Given the description of an element on the screen output the (x, y) to click on. 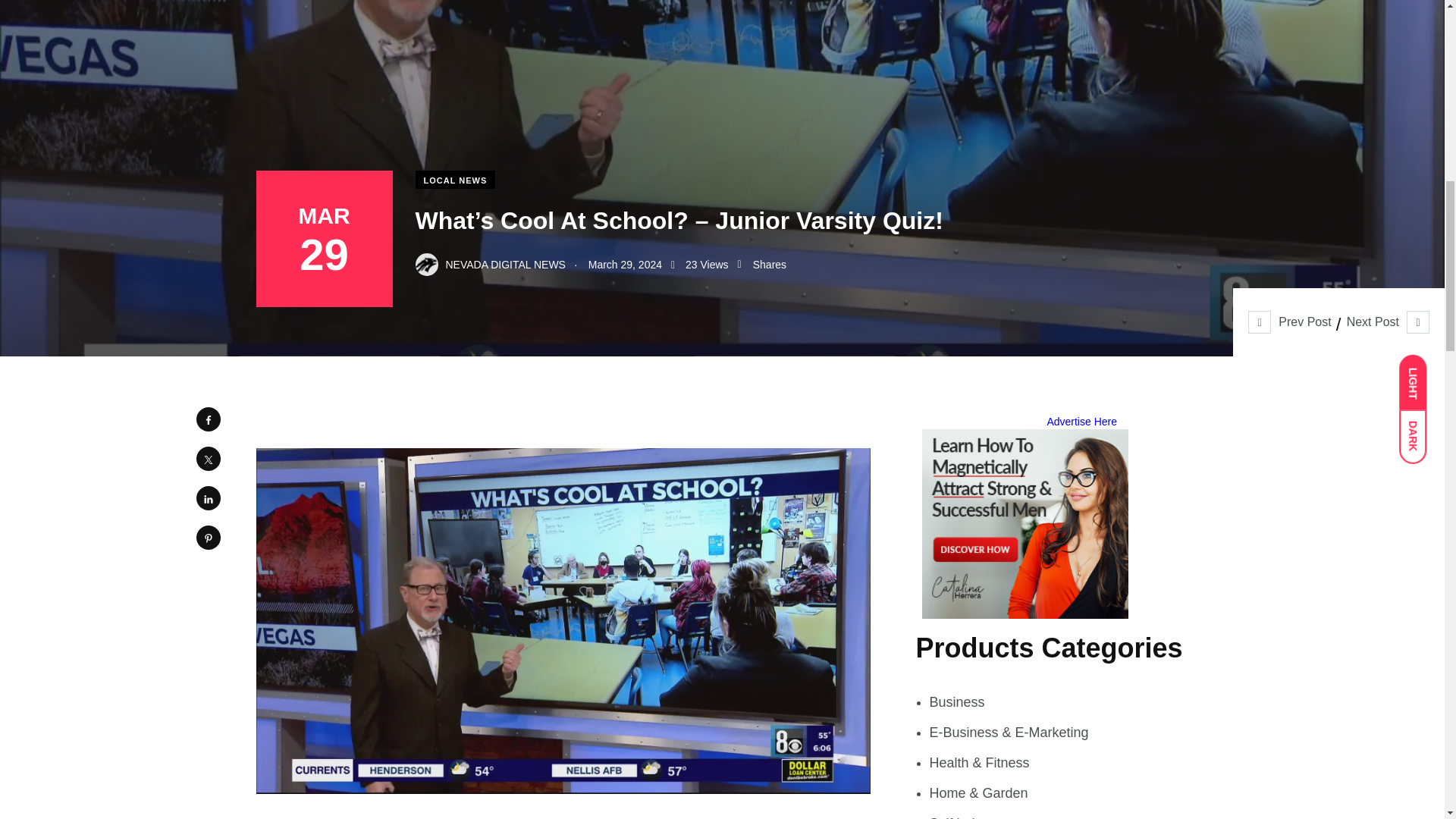
Share on Pinterest (207, 537)
Share on Twitter (207, 458)
Share on Facebook (207, 419)
Share on LinkedIn (207, 498)
